Given the description of an element on the screen output the (x, y) to click on. 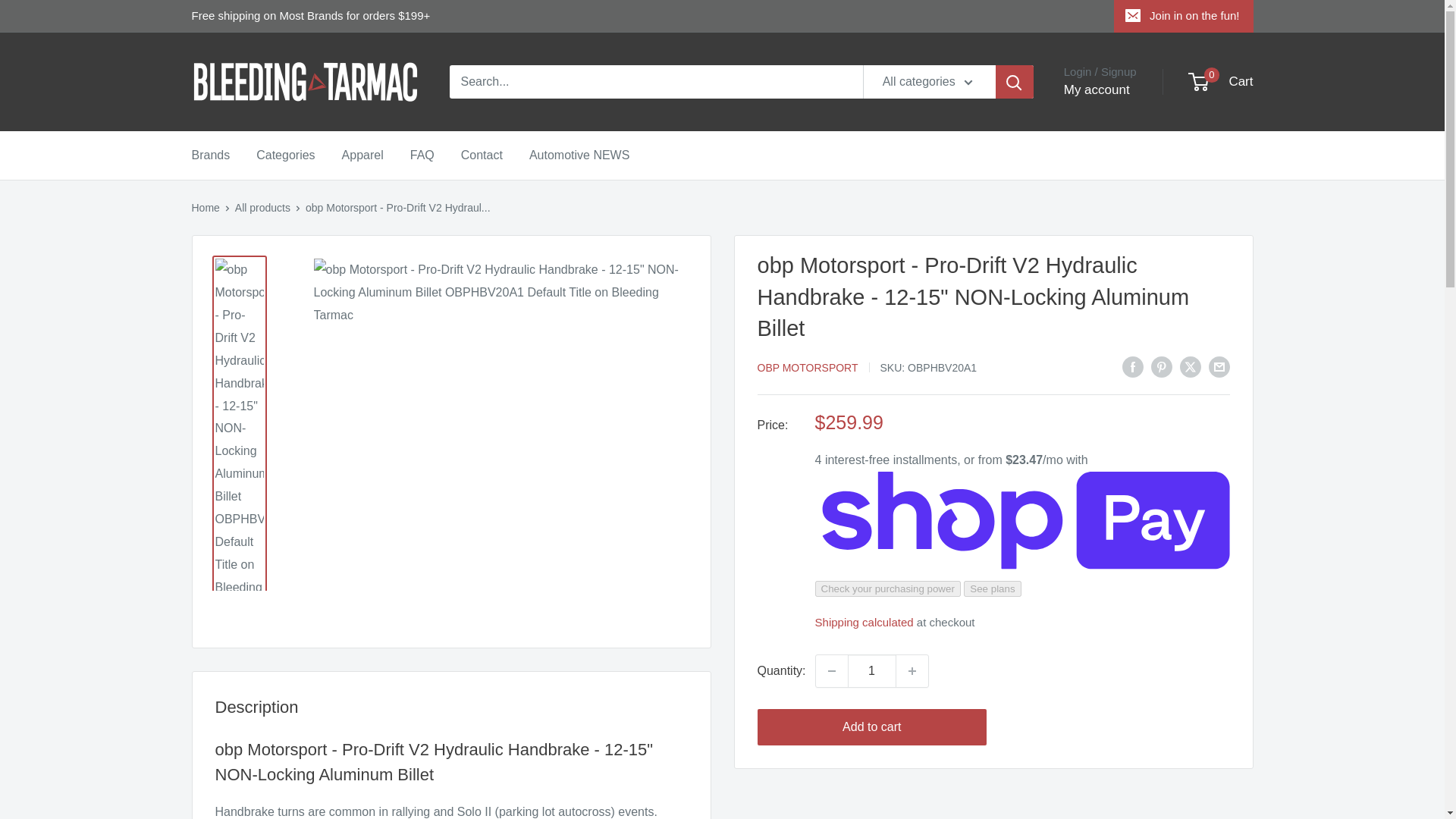
FAQ (421, 155)
1 (1221, 81)
Increase quantity by 1 (871, 671)
Automotive NEWS (912, 671)
Apparel (578, 155)
Decrease quantity by 1 (363, 155)
Categories (831, 671)
Join in on the fun! (285, 155)
Home (1182, 15)
OBP MOTORSPORT (204, 207)
Bleeding Tarmac (807, 367)
Brands (304, 81)
Contact (210, 155)
All products (481, 155)
